Given the description of an element on the screen output the (x, y) to click on. 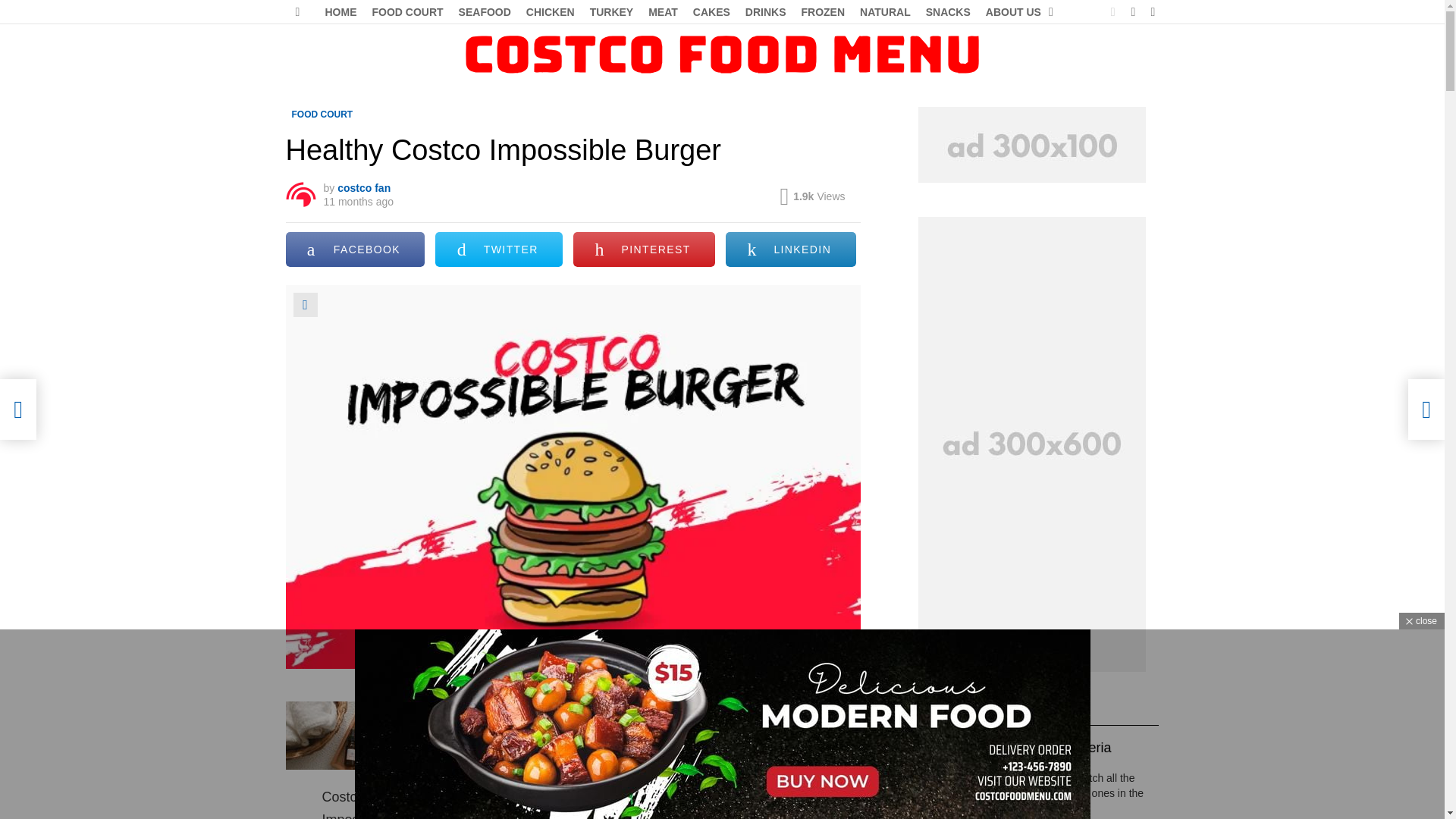
LOGIN (1152, 12)
TURKEY (612, 11)
HOME (340, 11)
Share on Twitter (498, 248)
FOOD COURT (321, 114)
August 13, 2023, 11:46 am (358, 201)
Share (304, 304)
FROZEN (822, 11)
SNACKS (948, 11)
CHICKEN (550, 11)
SWITCH SKIN (1112, 12)
Share on LinkedIn (790, 248)
CAKES (711, 11)
Share on Pinterest (643, 248)
costco fan (363, 187)
